Given the description of an element on the screen output the (x, y) to click on. 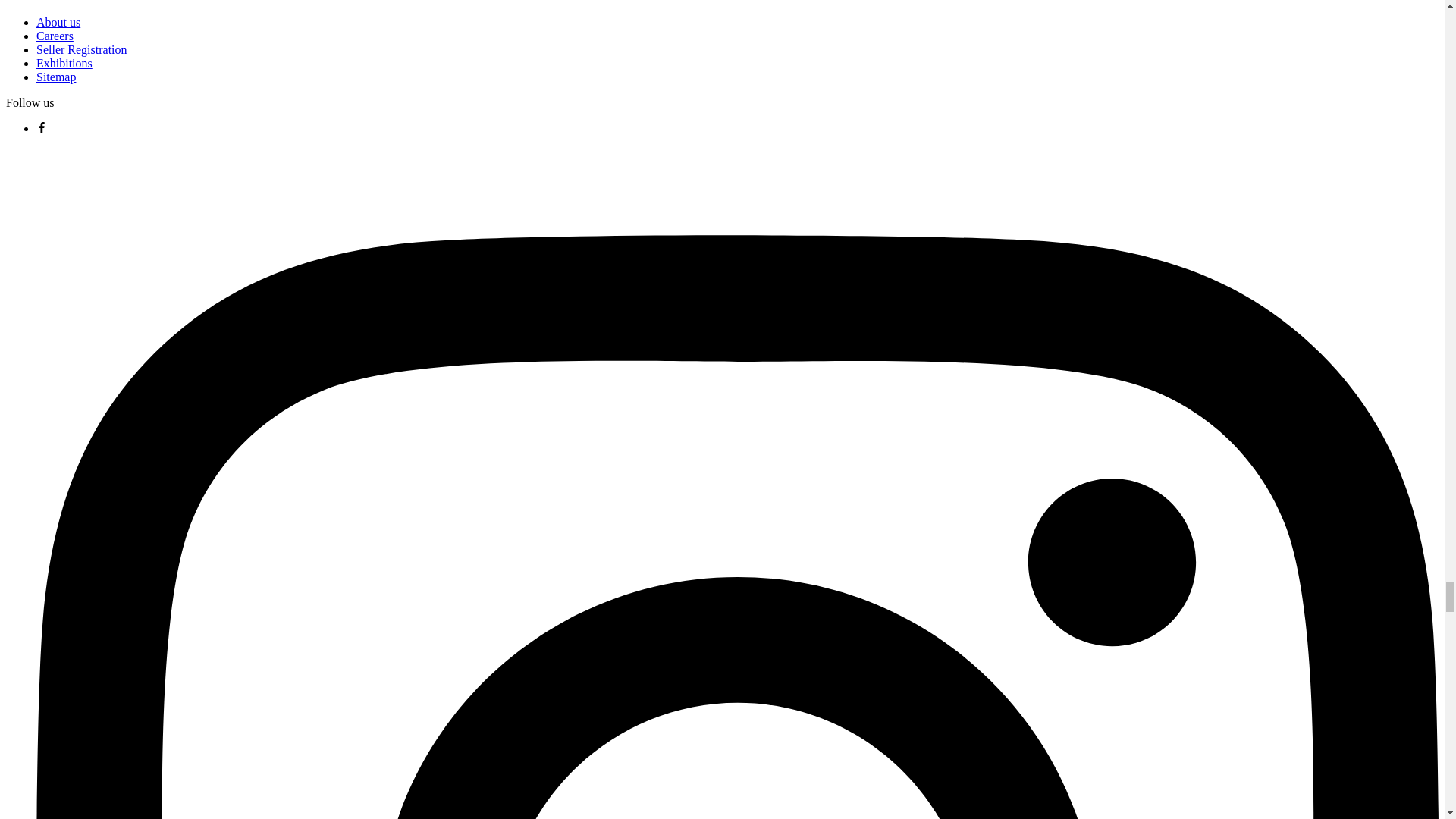
Exhibitions (64, 62)
Seller Registration (82, 49)
Sitemap (55, 76)
Careers (55, 35)
About us (58, 21)
